Given the description of an element on the screen output the (x, y) to click on. 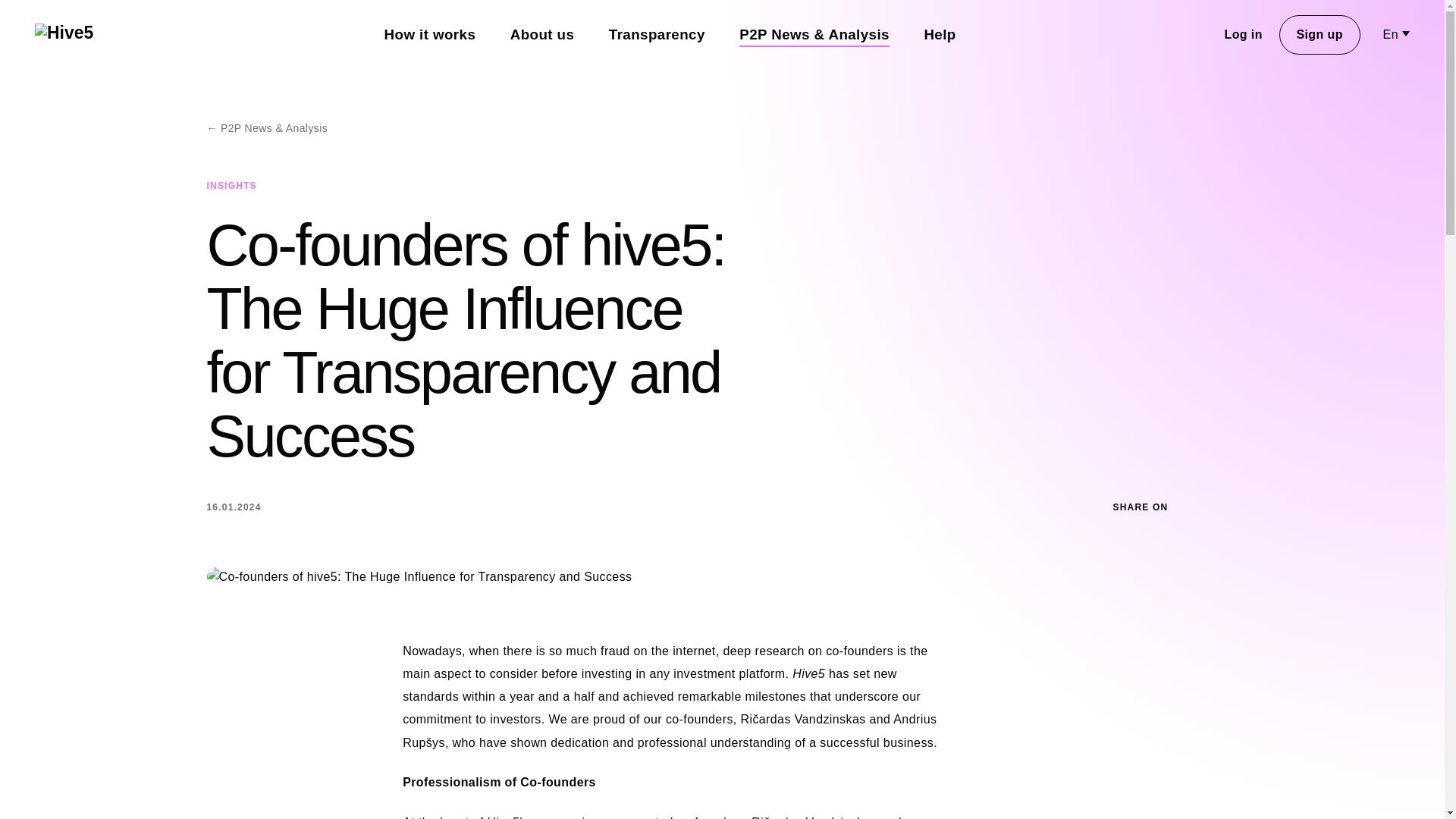
How it works (430, 34)
Sign up (1319, 34)
Share on LinkedIn (1228, 506)
INSIGHTS (231, 185)
Transparency (656, 34)
Share on Twitter (1206, 506)
Log in (1243, 34)
Share on Facebook (1185, 506)
Help (939, 34)
About us (542, 34)
